Given the description of an element on the screen output the (x, y) to click on. 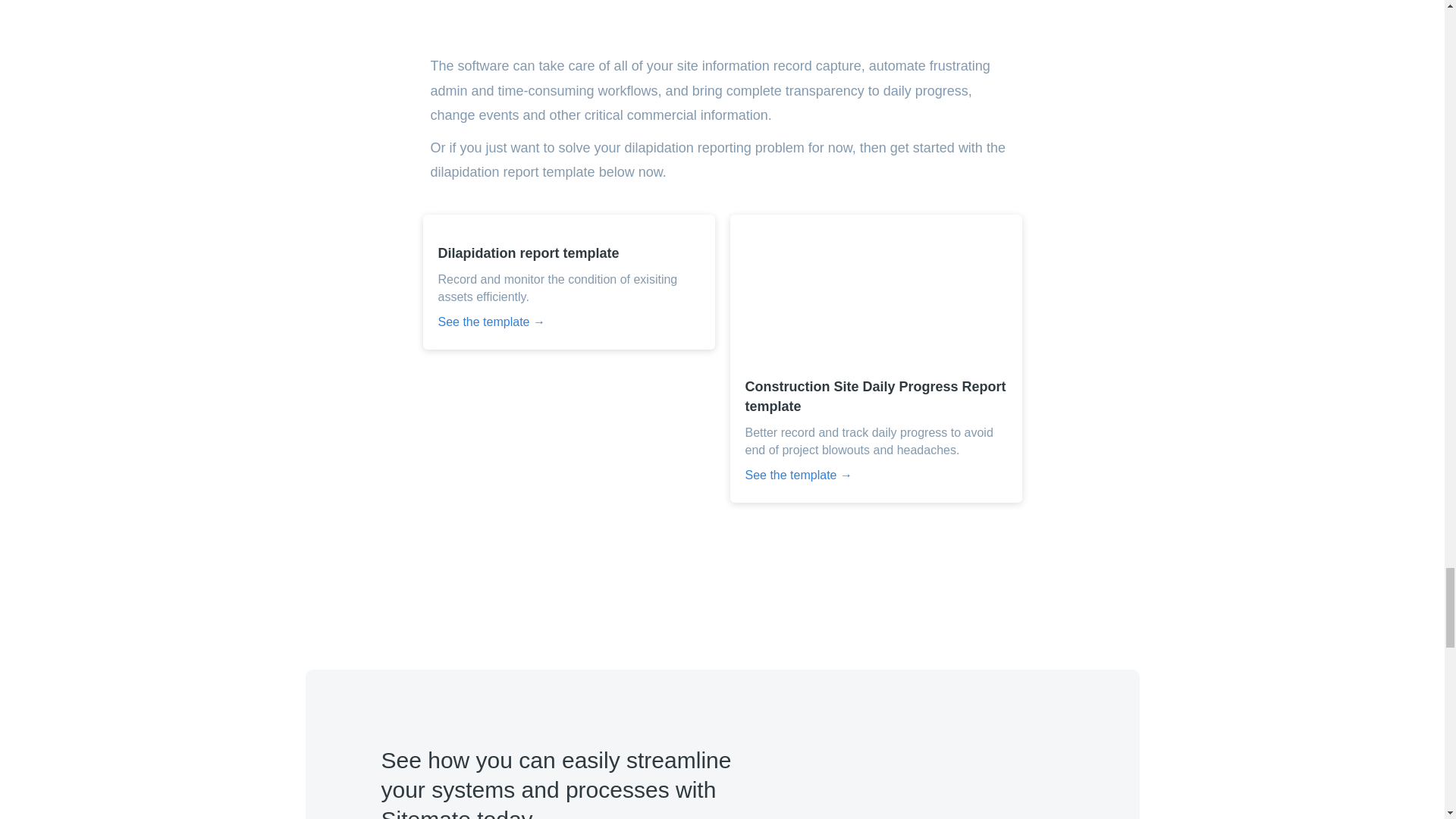
Site instructions software (722, 11)
